Given the description of an element on the screen output the (x, y) to click on. 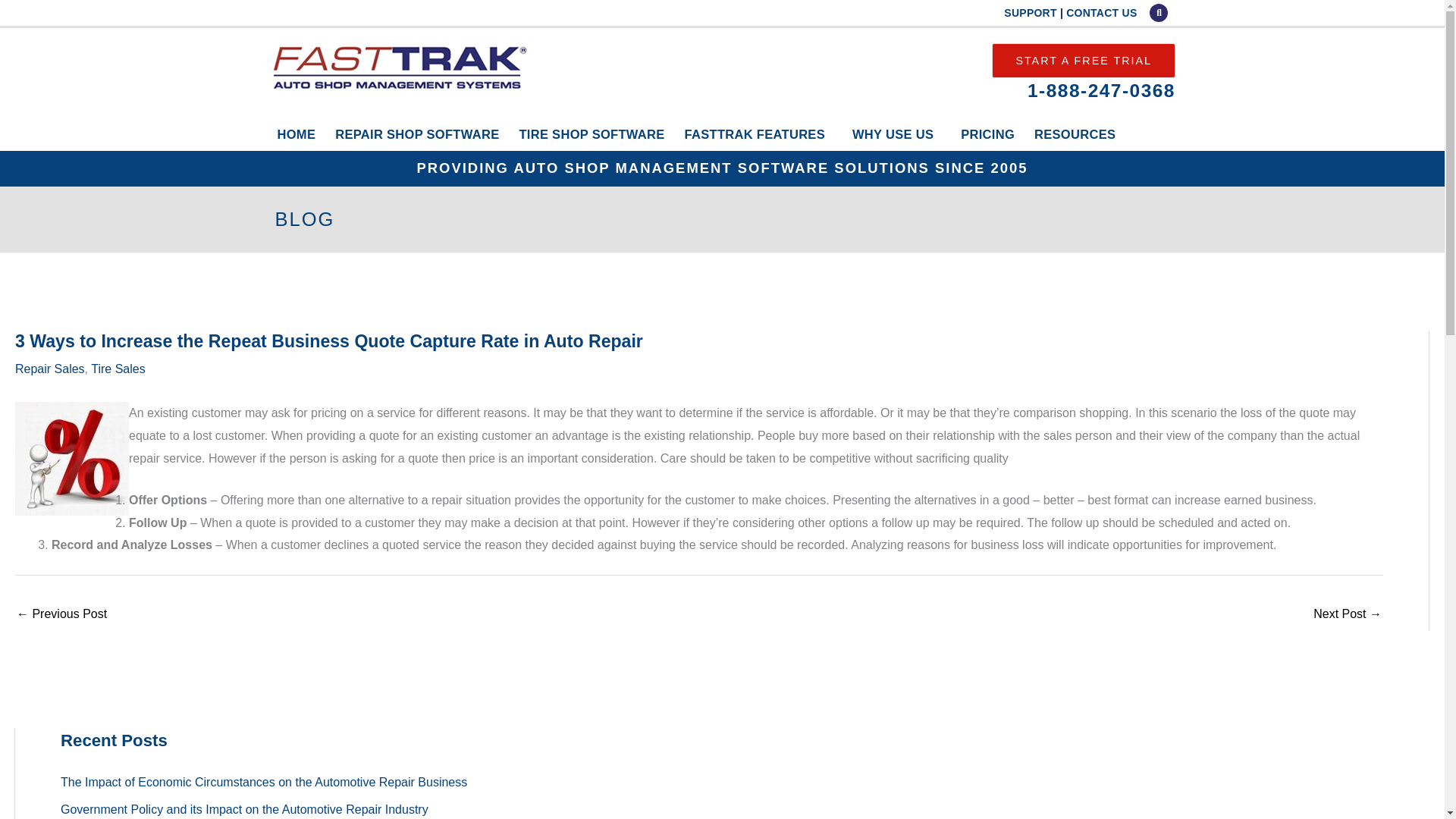
START A FREE TRIAL (1082, 60)
6 Ways to Grow the Auto Repair Recommendation Capture Rate (1347, 615)
RESOURCES (1078, 133)
HOME (295, 133)
SUPPORT (1030, 12)
REPAIR SHOP SOFTWARE (416, 133)
PRICING (987, 133)
WHY USE US (896, 133)
CONTACT US (1101, 12)
FASTTRAK FEATURES (759, 133)
TIRE SHOP SOFTWARE (591, 133)
